Given the description of an element on the screen output the (x, y) to click on. 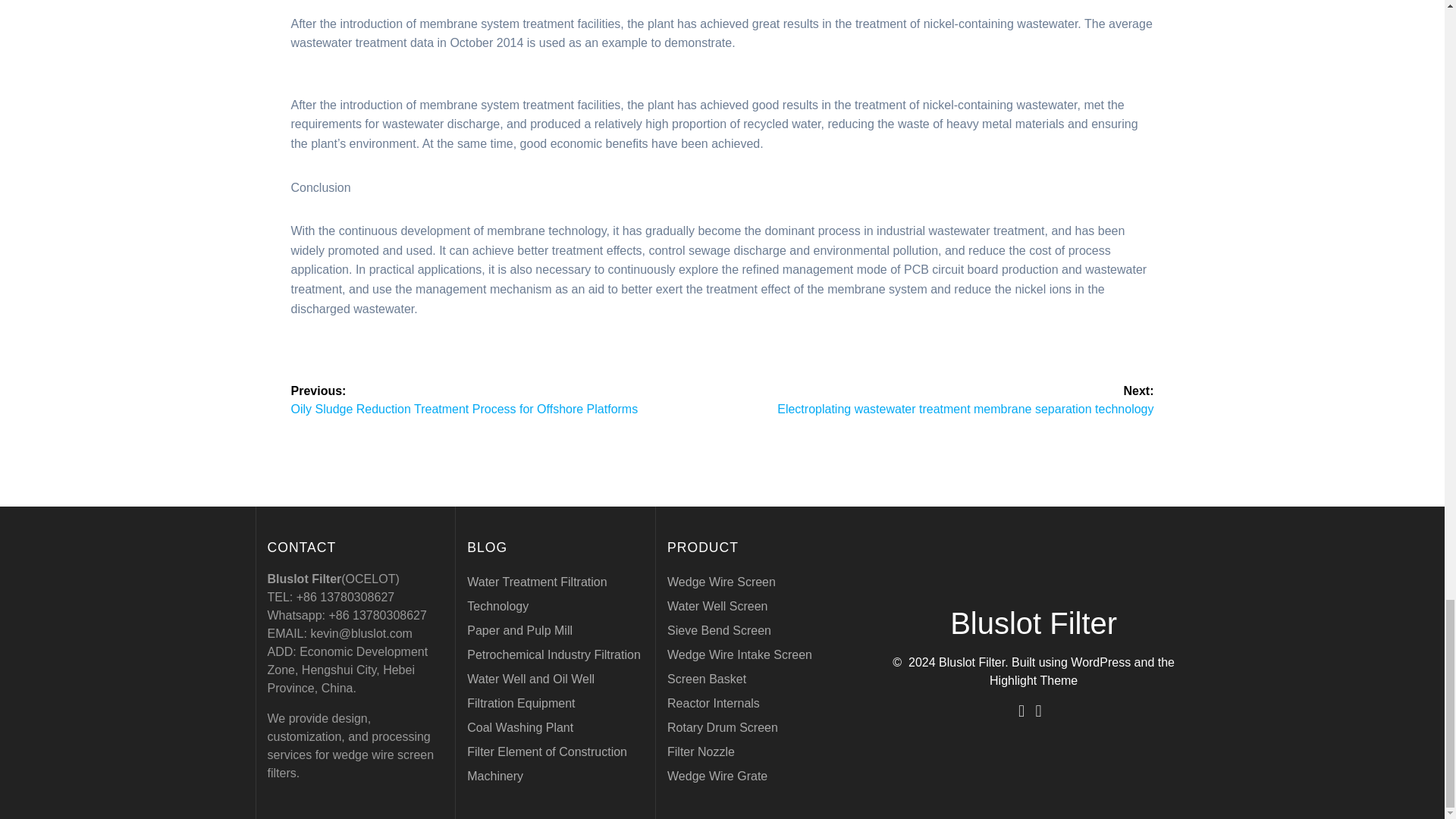
Filtration Equipment (521, 703)
Rotary Drum Screen (721, 727)
Water Well Screen (716, 605)
Filter Element of Construction Machinery (547, 763)
Water Well and Oil Well (530, 678)
Coal Washing Plant (520, 727)
Petrochemical Industry Filtration (553, 654)
Sieve Bend Screen (718, 630)
Wedge Wire Intake Screen (739, 654)
Technology (497, 605)
Wedge Wire Grate (716, 775)
Reactor Internals (713, 703)
Filter Nozzle (700, 751)
Screen Basket (705, 678)
